Given the description of an element on the screen output the (x, y) to click on. 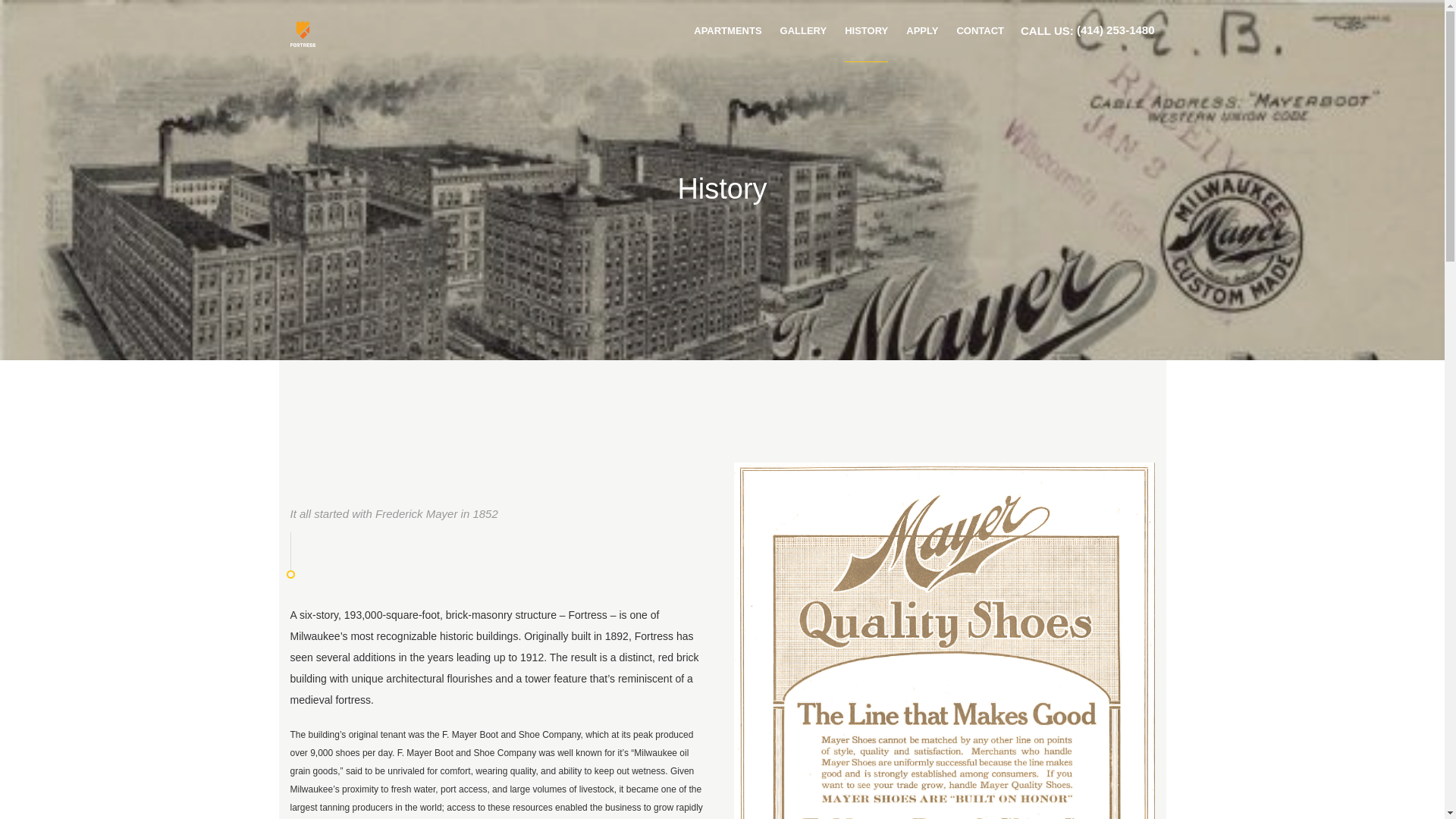
APARTMENTS (727, 31)
